Given the description of an element on the screen output the (x, y) to click on. 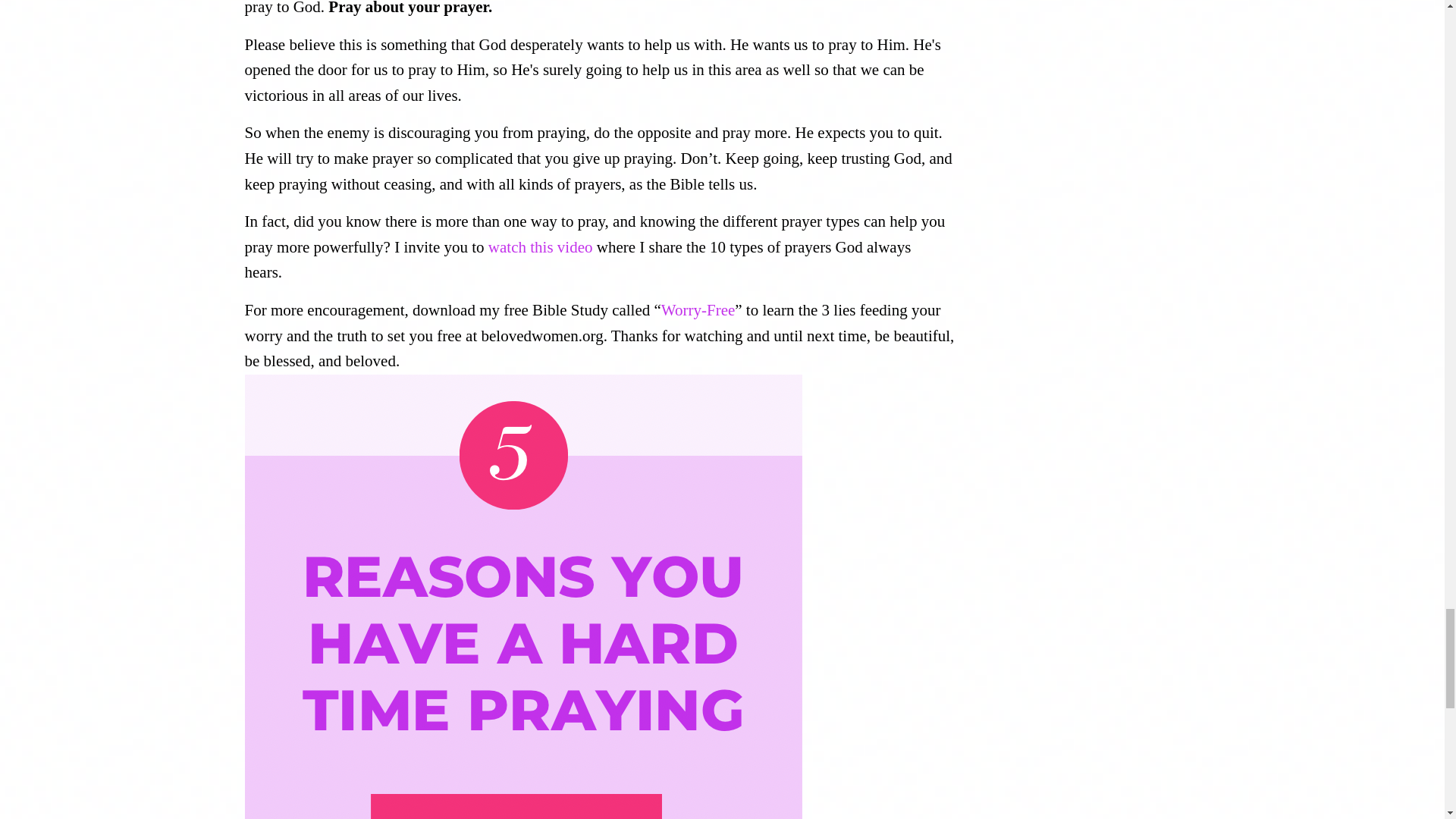
Worry-Free (698, 310)
watch this video (539, 247)
